Given the description of an element on the screen output the (x, y) to click on. 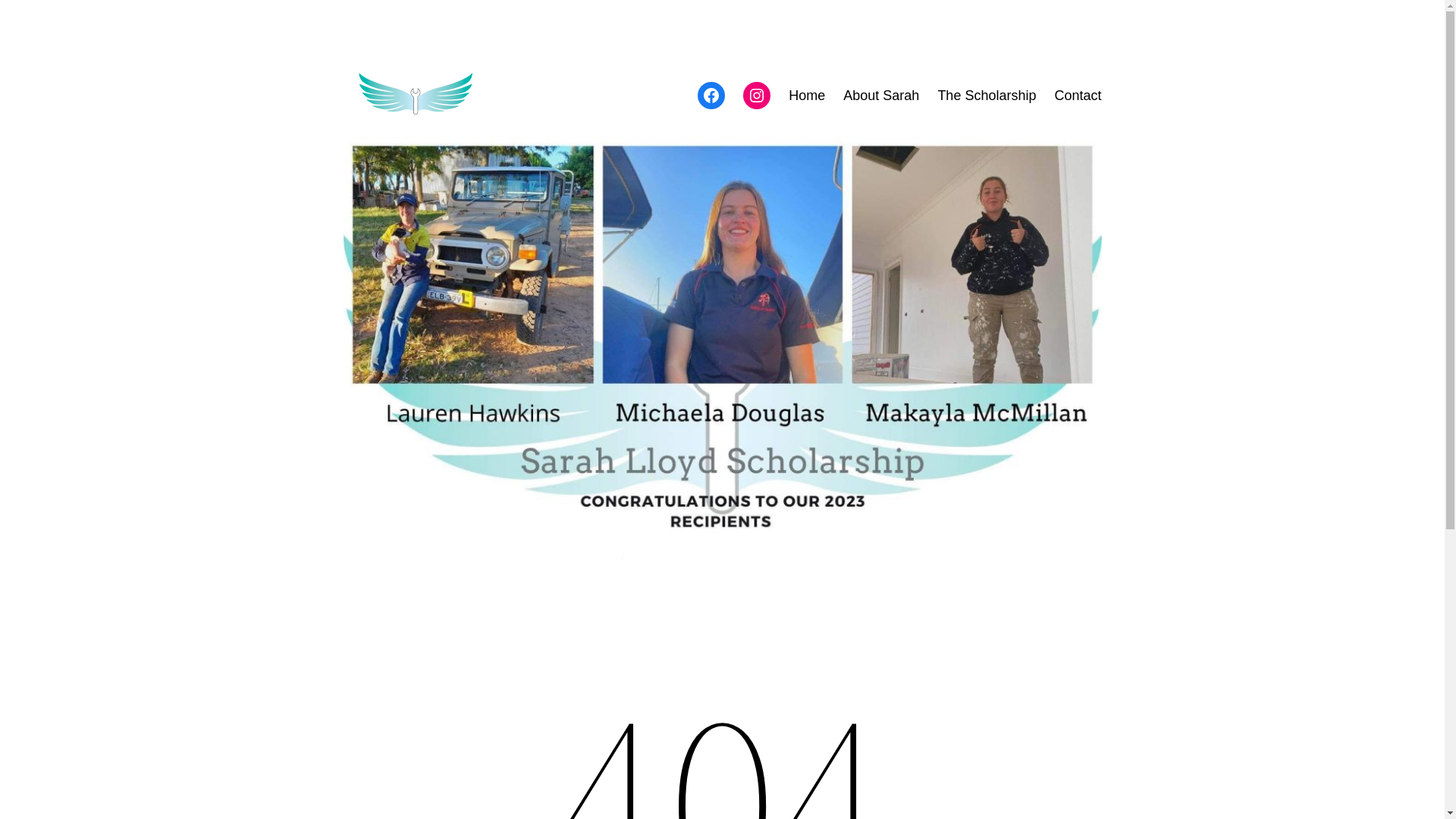
About Sarah Element type: text (881, 95)
Contact Element type: text (1077, 95)
Instagram Element type: text (756, 95)
Home Element type: text (806, 95)
Facebook Element type: text (710, 95)
The Scholarship Element type: text (986, 95)
